Given the description of an element on the screen output the (x, y) to click on. 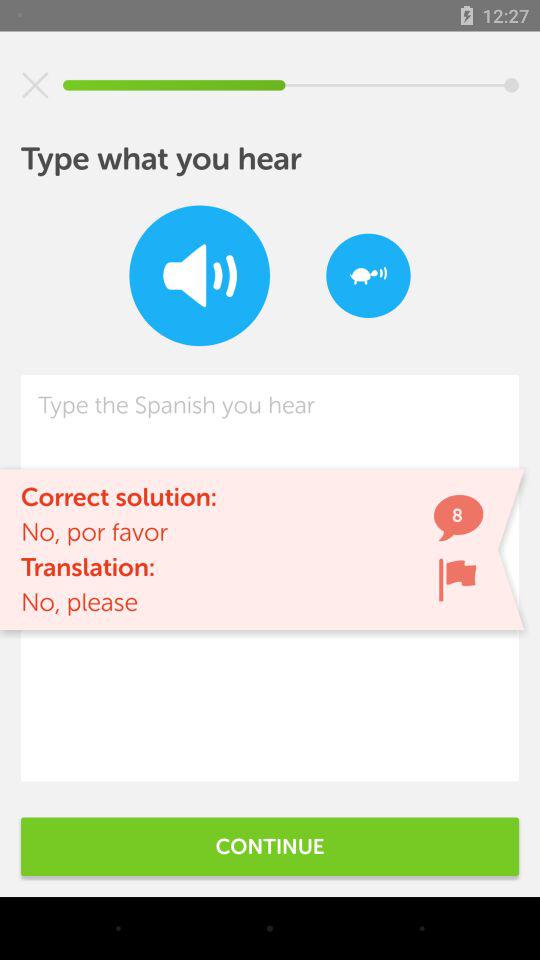
choose the continue icon (270, 846)
